Given the description of an element on the screen output the (x, y) to click on. 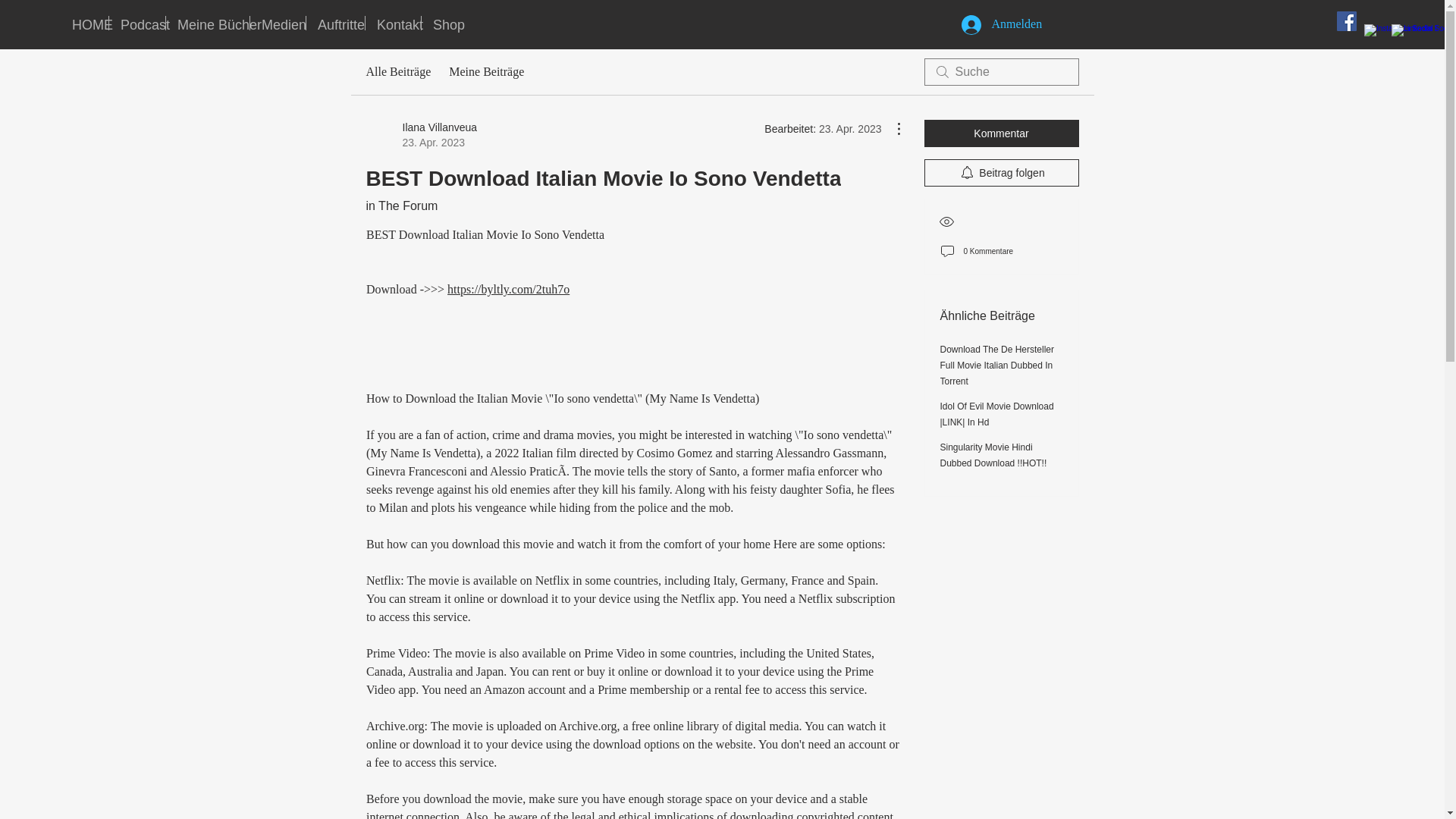
Kontakt (392, 22)
Singularity Movie Hindi Dubbed Download !!HOT!! (993, 455)
Kommentar (1000, 133)
in The Forum (421, 134)
Podcast (401, 205)
Anmelden (137, 22)
HOME (996, 24)
Shop (84, 22)
Auftritte (443, 22)
